Given the description of an element on the screen output the (x, y) to click on. 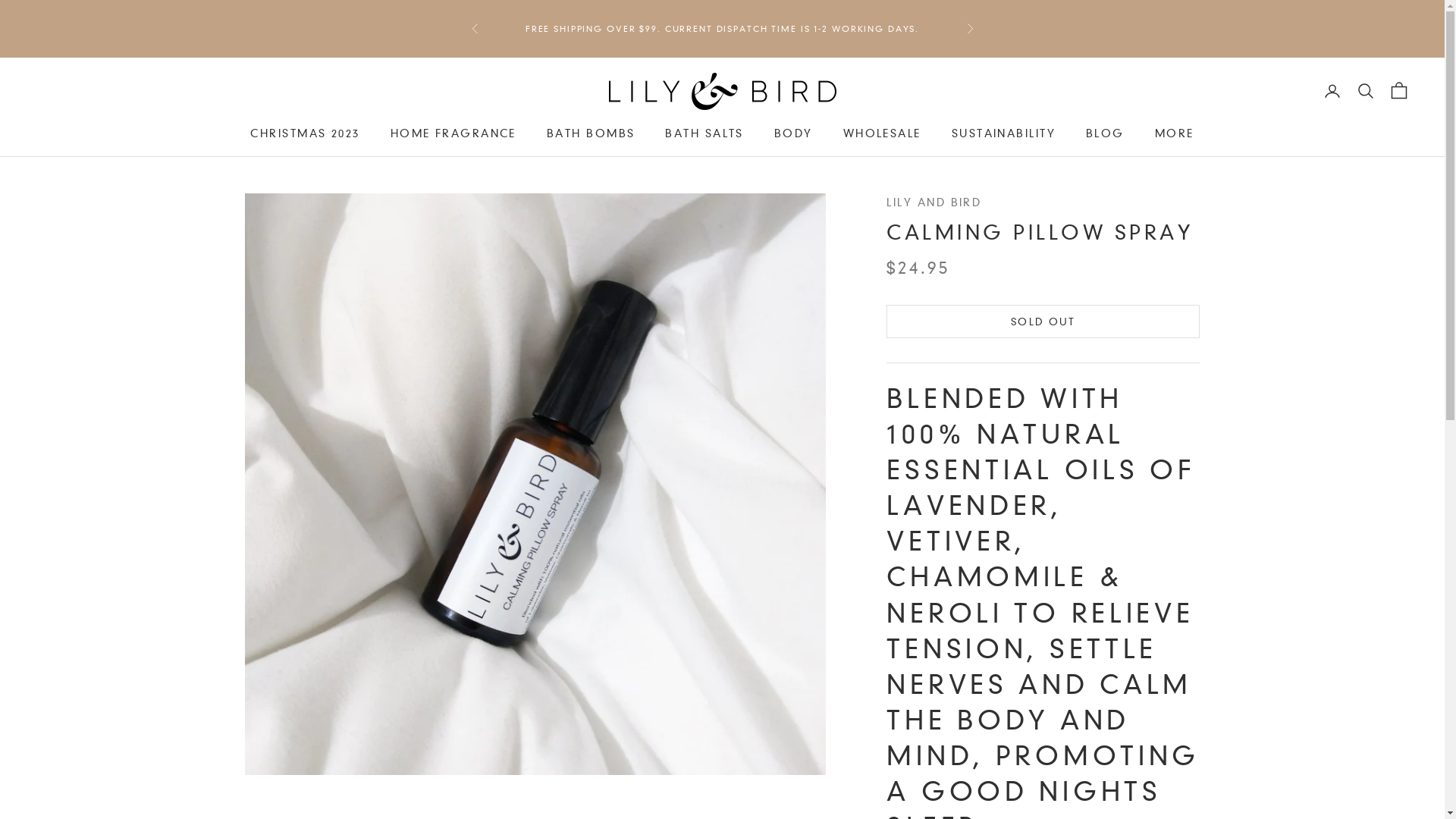
Next Element type: text (968, 28)
BLOG Element type: text (1104, 133)
BATH SALTS Element type: text (704, 133)
Open account page Element type: text (1332, 90)
Previous Element type: text (474, 28)
Open cart Element type: text (1399, 90)
HOME FRAGRANCE Element type: text (453, 133)
CHRISTMAS 2023 Element type: text (304, 133)
LILY AND BIRD Element type: text (933, 202)
BODY Element type: text (793, 133)
SOLD OUT Element type: text (1042, 321)
SUSTAINABILITY Element type: text (1003, 133)
Open search Element type: text (1365, 90)
Lily and Bird Element type: text (721, 90)
BATH BOMBS Element type: text (590, 133)
WHOLESALE Element type: text (882, 133)
